Given the description of an element on the screen output the (x, y) to click on. 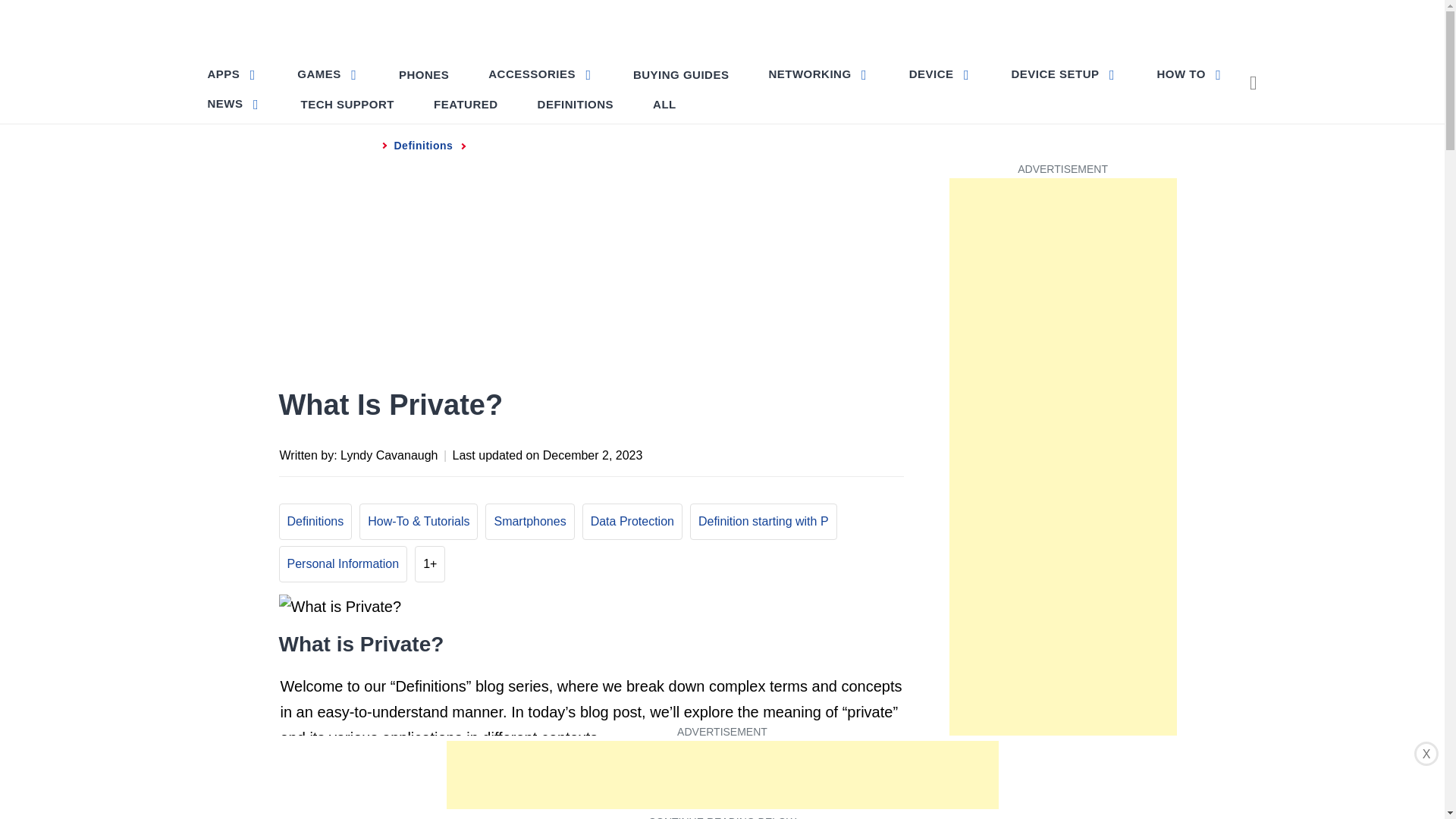
Share on Whatsapp (829, 453)
Share on Pinterest (800, 453)
PHONES (424, 74)
BUYING GUIDES (681, 74)
NETWORKING (818, 73)
Share on facebook (740, 453)
GAMES (327, 73)
ACCESSORIES (540, 73)
Copy to Clipboard (860, 453)
APPS (233, 73)
